Given the description of an element on the screen output the (x, y) to click on. 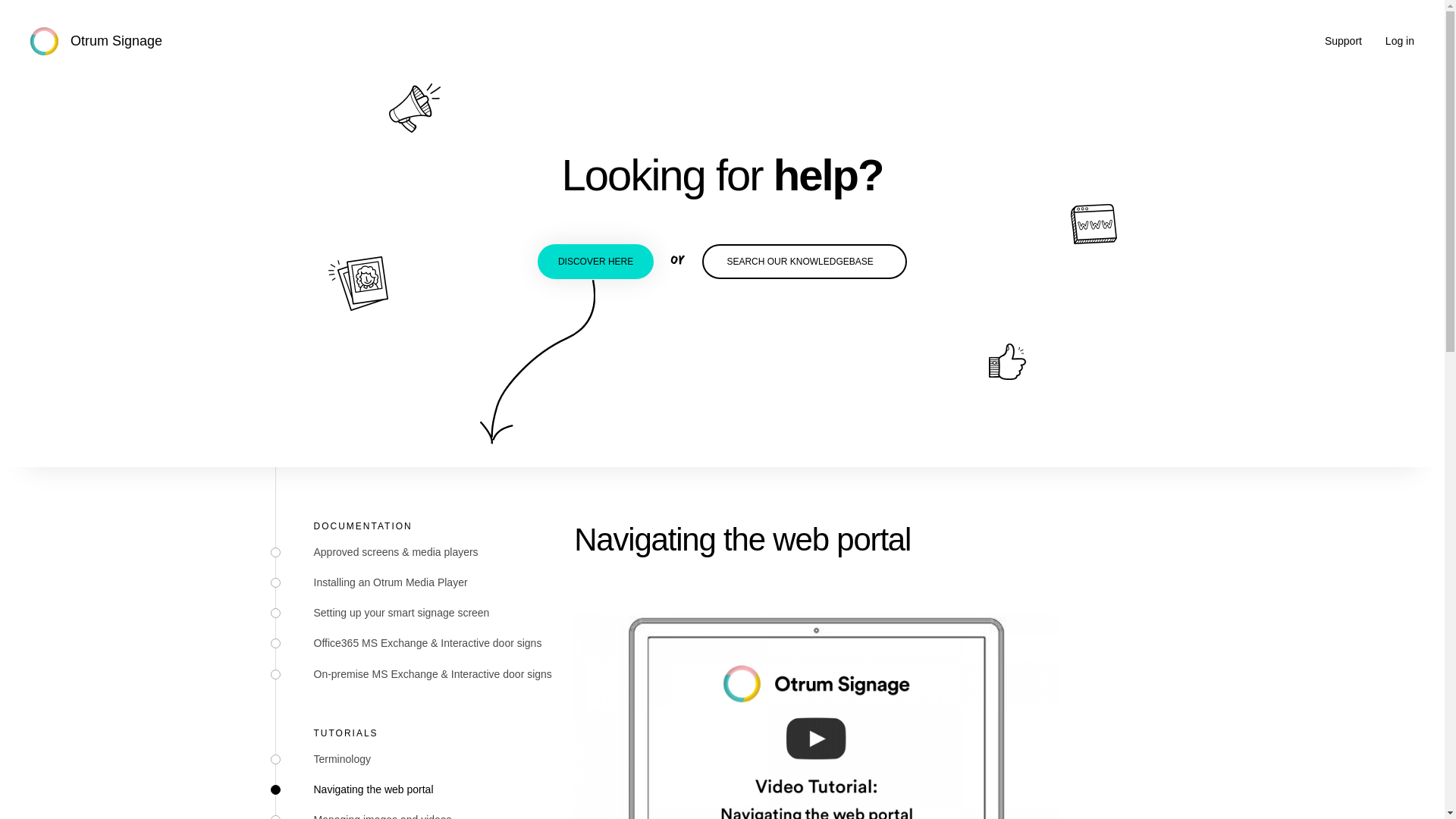
Setting up your smart signage screen (401, 612)
DISCOVER HERE (595, 261)
Navigating the web portal (373, 788)
Otrum Signage (95, 41)
Log in (1399, 41)
Installing an Otrum Media Player (390, 582)
Support (1342, 41)
Managing images and videos (382, 816)
Terminology (342, 758)
